Given the description of an element on the screen output the (x, y) to click on. 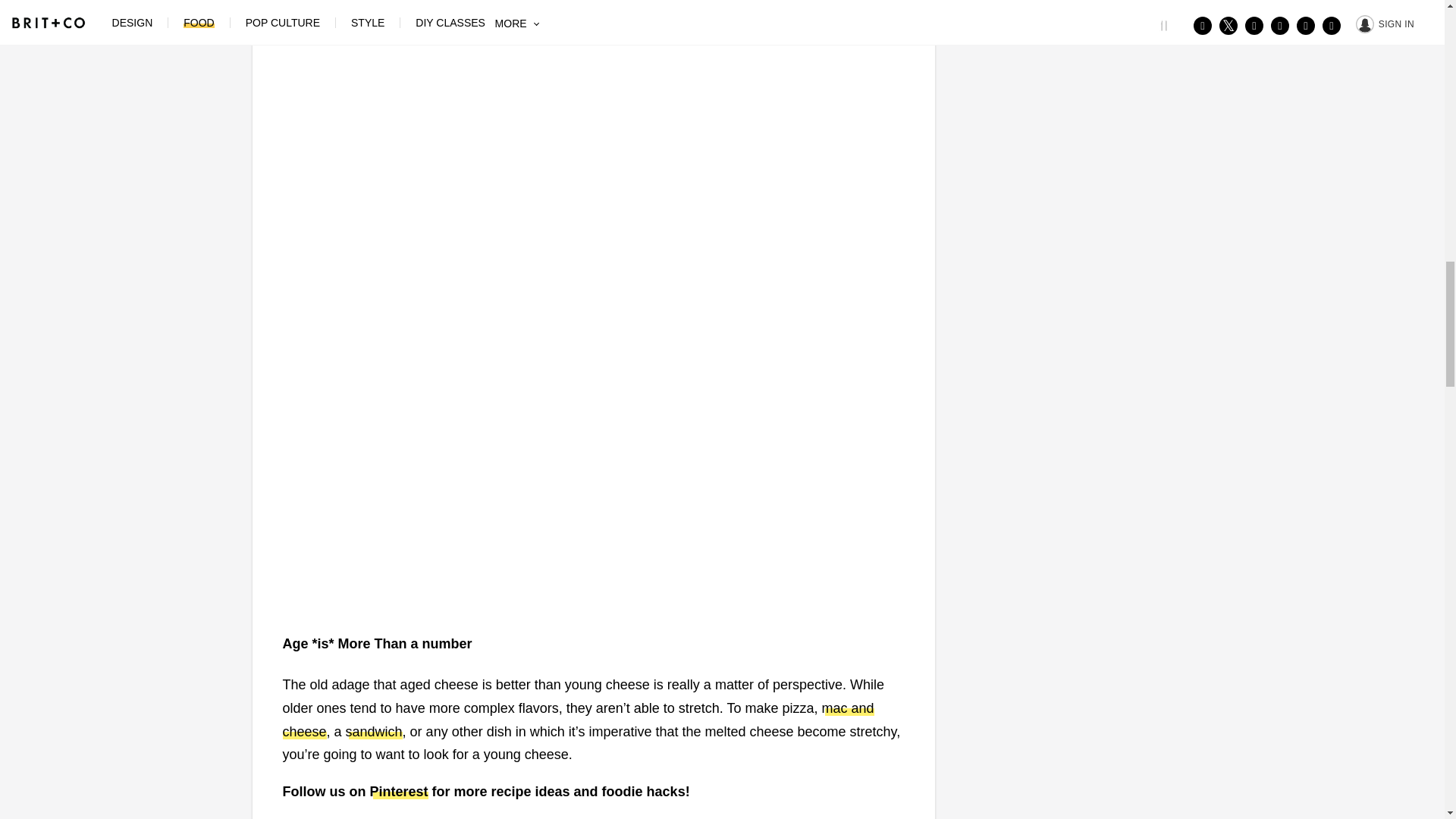
3rd party ad content (592, 57)
3rd party ad content (1062, 4)
